Given the description of an element on the screen output the (x, y) to click on. 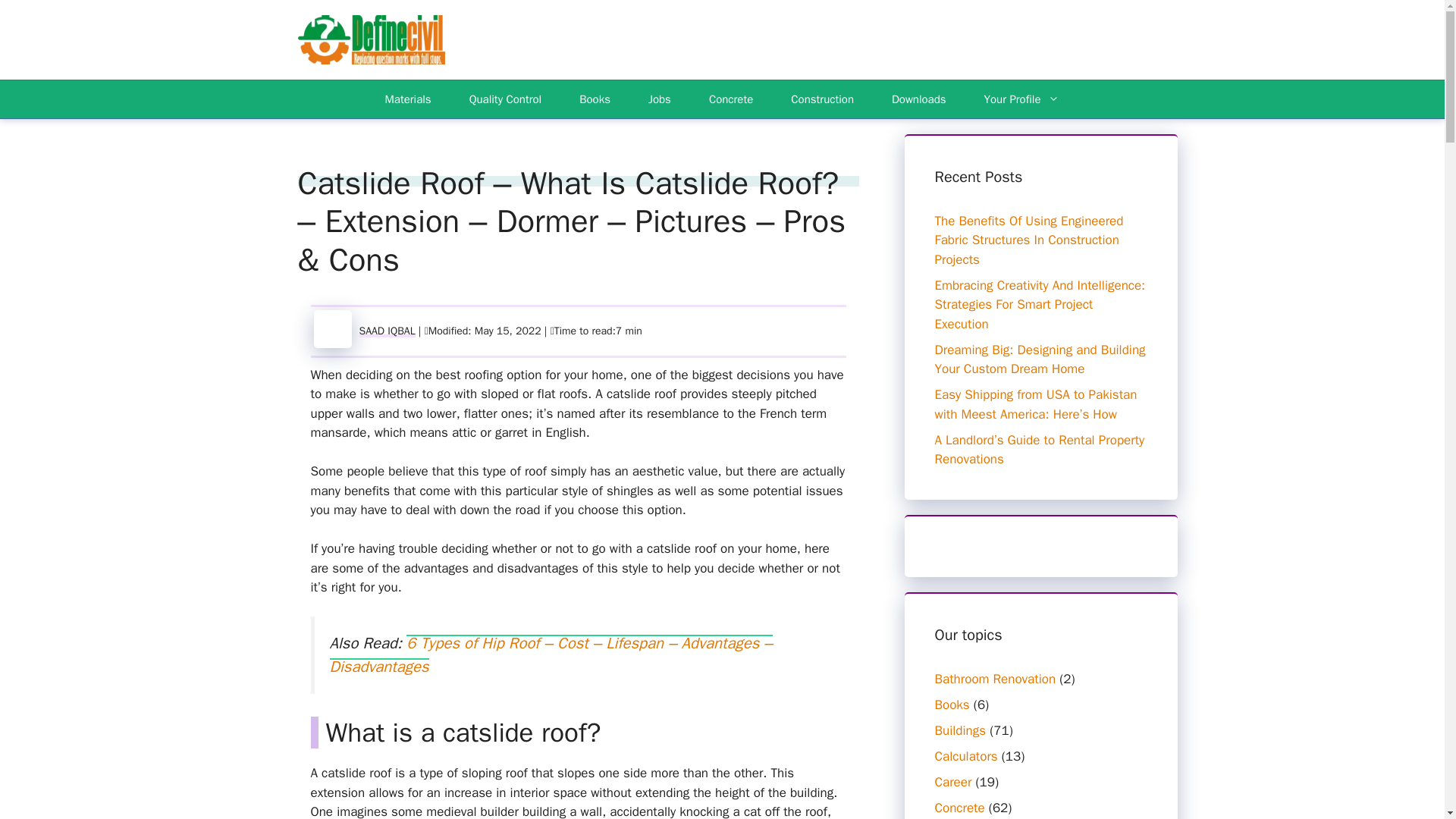
Books (595, 99)
Bathroom Renovation (994, 678)
Construction (822, 99)
Materials (407, 99)
Buildings (959, 730)
Dreaming Big: Designing and Building Your Custom Dream Home (1039, 359)
Definecivil (370, 38)
Books (951, 704)
Calculators (965, 756)
Concrete (731, 99)
